Given the description of an element on the screen output the (x, y) to click on. 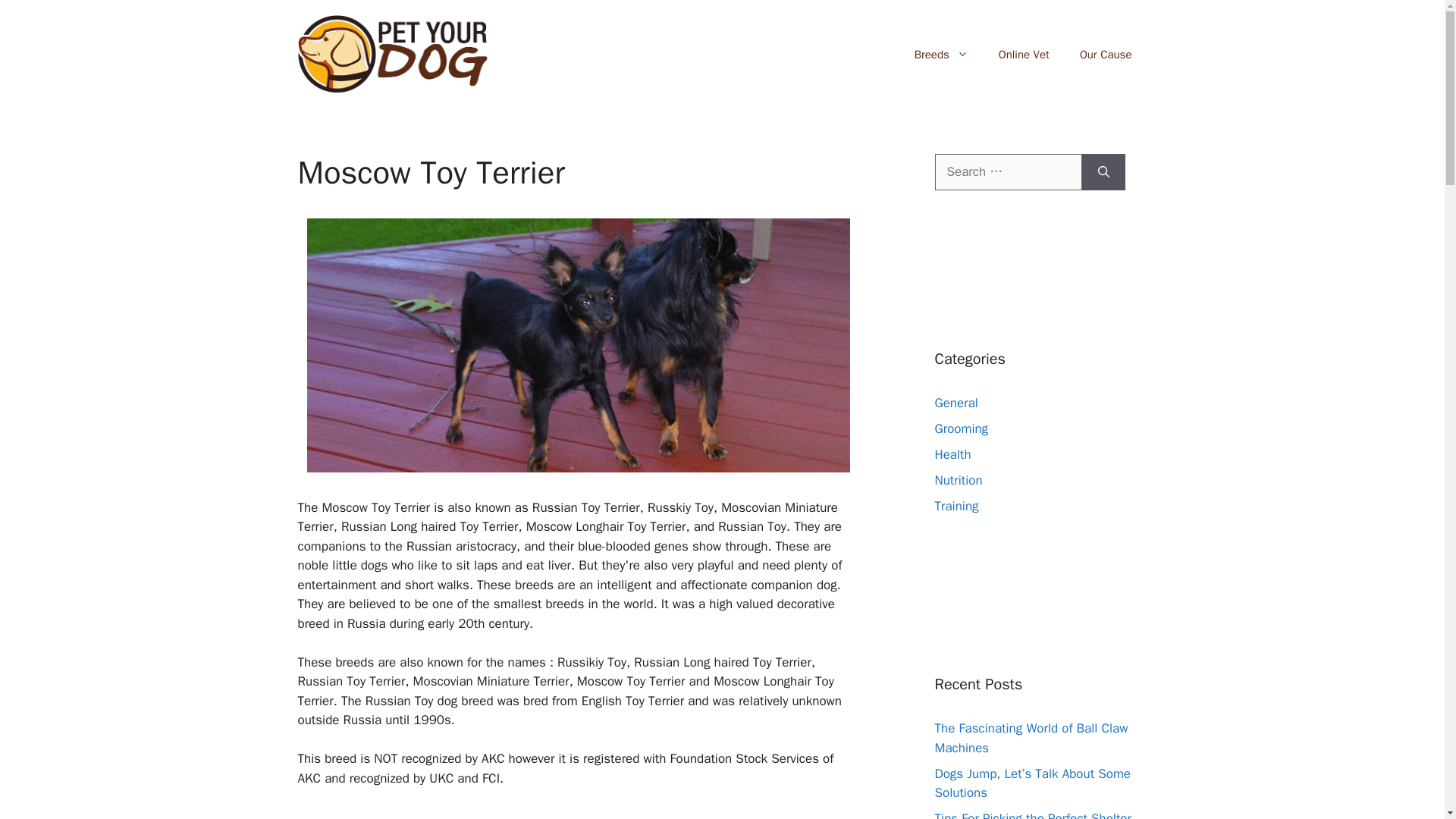
Nutrition (957, 480)
Our Cause (1105, 53)
General (955, 402)
Online Vet (1024, 53)
Breeds (941, 53)
Health (952, 454)
Grooming (961, 428)
